Given the description of an element on the screen output the (x, y) to click on. 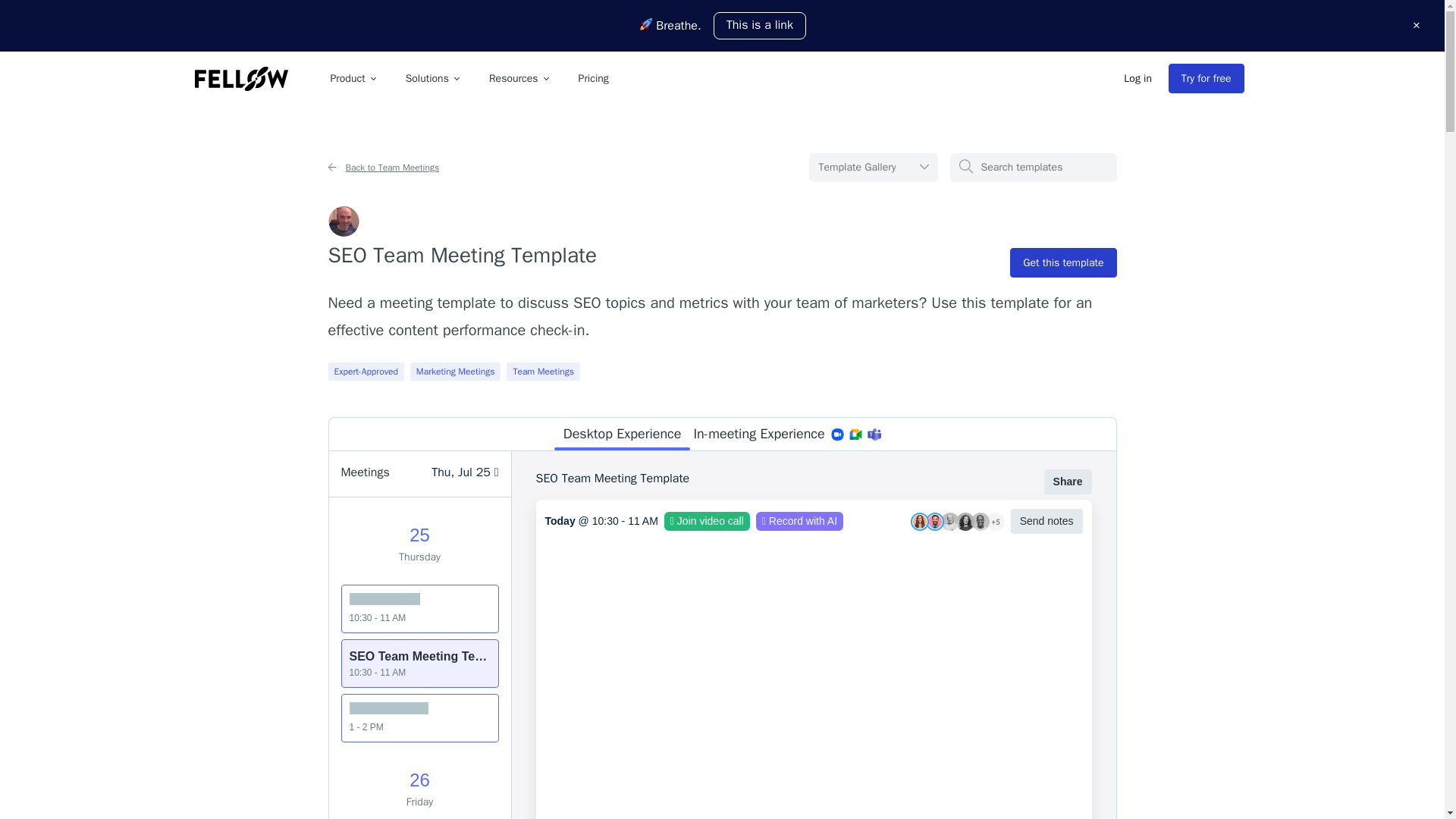
Solutions (431, 79)
Product (352, 79)
